Given the description of an element on the screen output the (x, y) to click on. 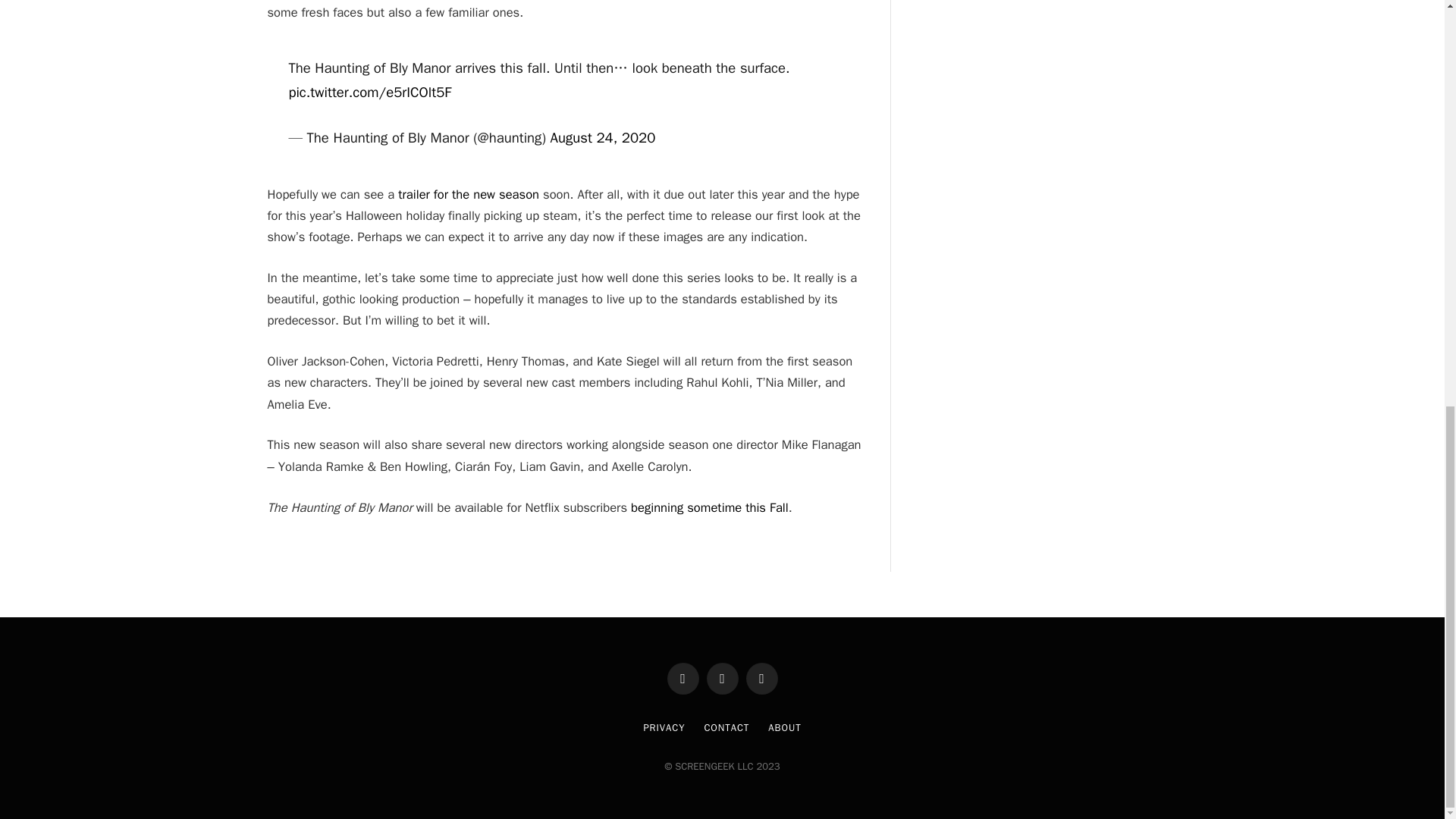
August 24, 2020 (603, 137)
Instagram (761, 678)
trailer for the new season (467, 194)
Facebook (682, 678)
beginning sometime this Fall (709, 507)
ABOUT (784, 727)
CONTACT (726, 727)
PRIVACY (663, 727)
